Given the description of an element on the screen output the (x, y) to click on. 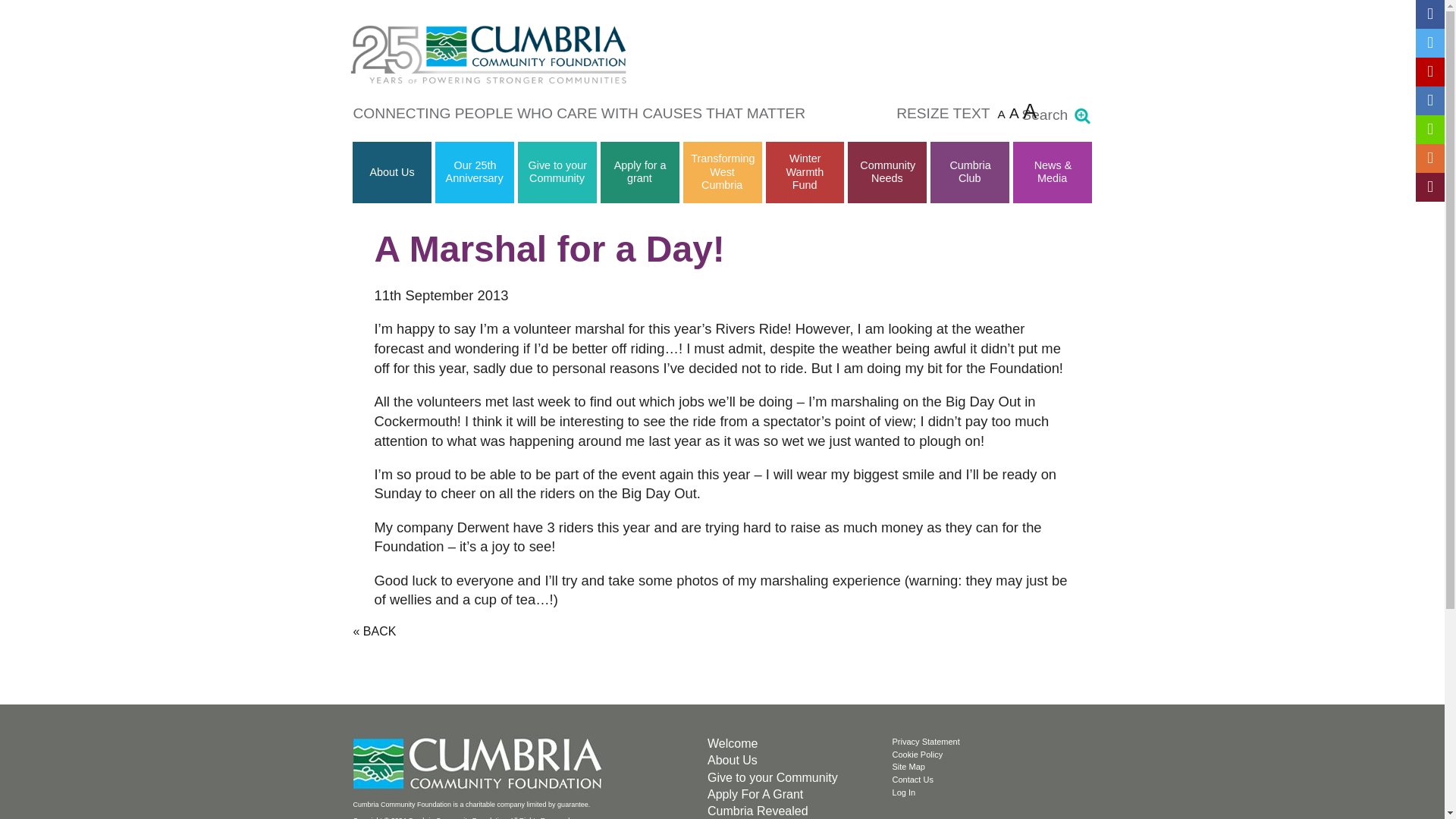
ccf-logo (480, 763)
About Us (391, 172)
Search the site (1080, 116)
Our 25th Anniversary (474, 171)
Give to your Community (556, 171)
